Given the description of an element on the screen output the (x, y) to click on. 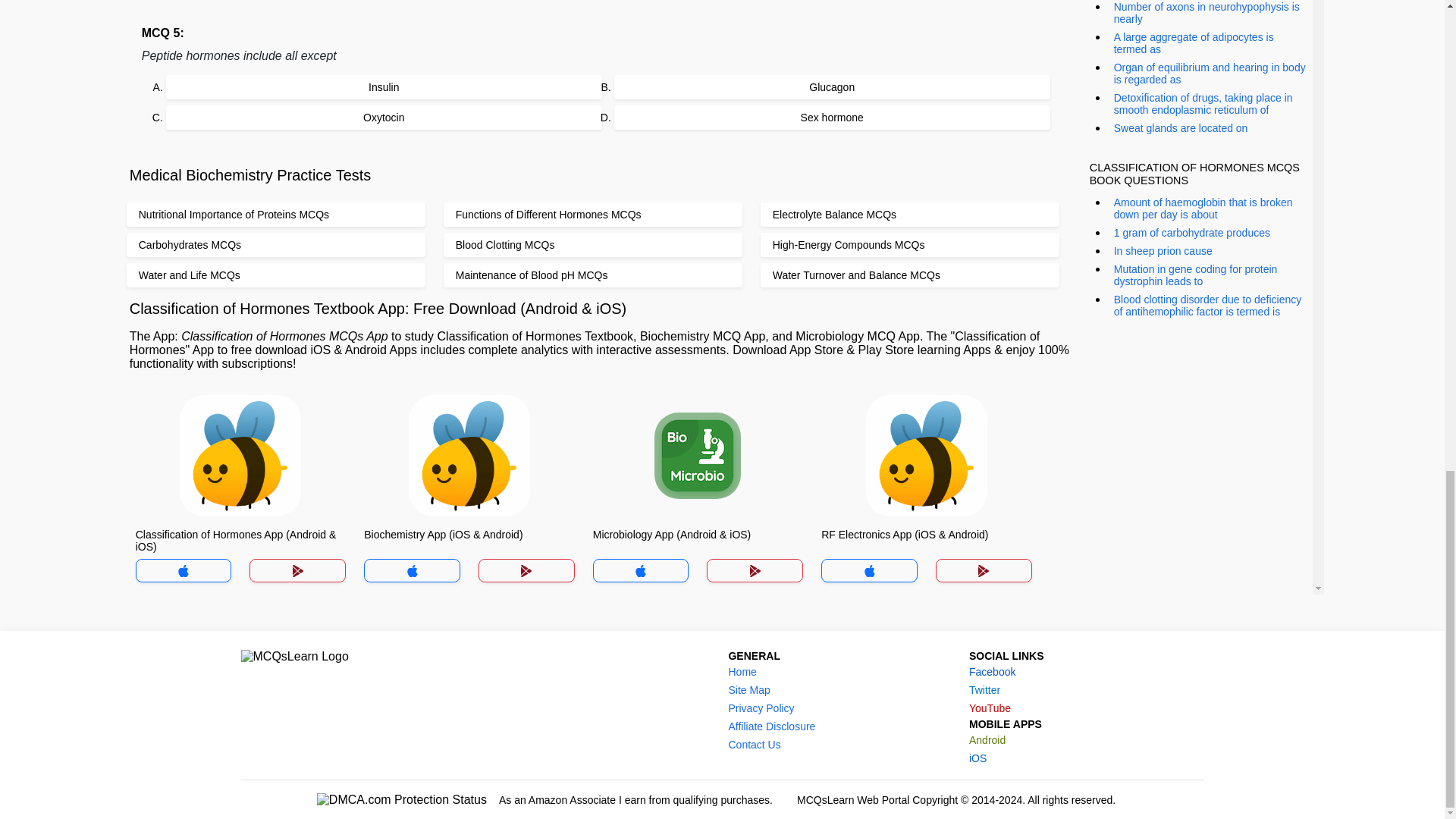
DMCA.com Protection Status (401, 799)
